Given the description of an element on the screen output the (x, y) to click on. 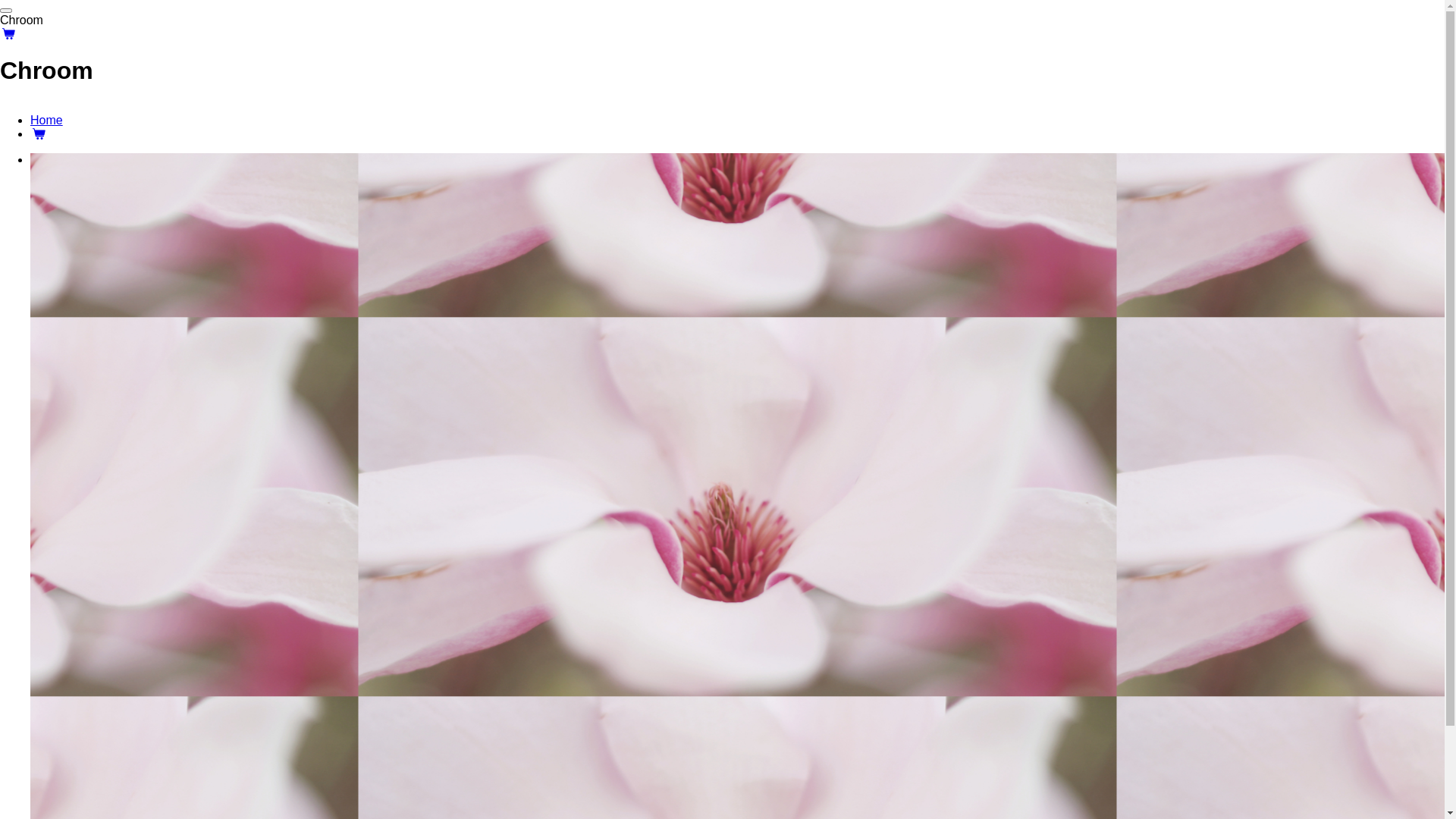
Home Element type: text (46, 119)
Winkelwagen Element type: hover (38, 133)
